Given the description of an element on the screen output the (x, y) to click on. 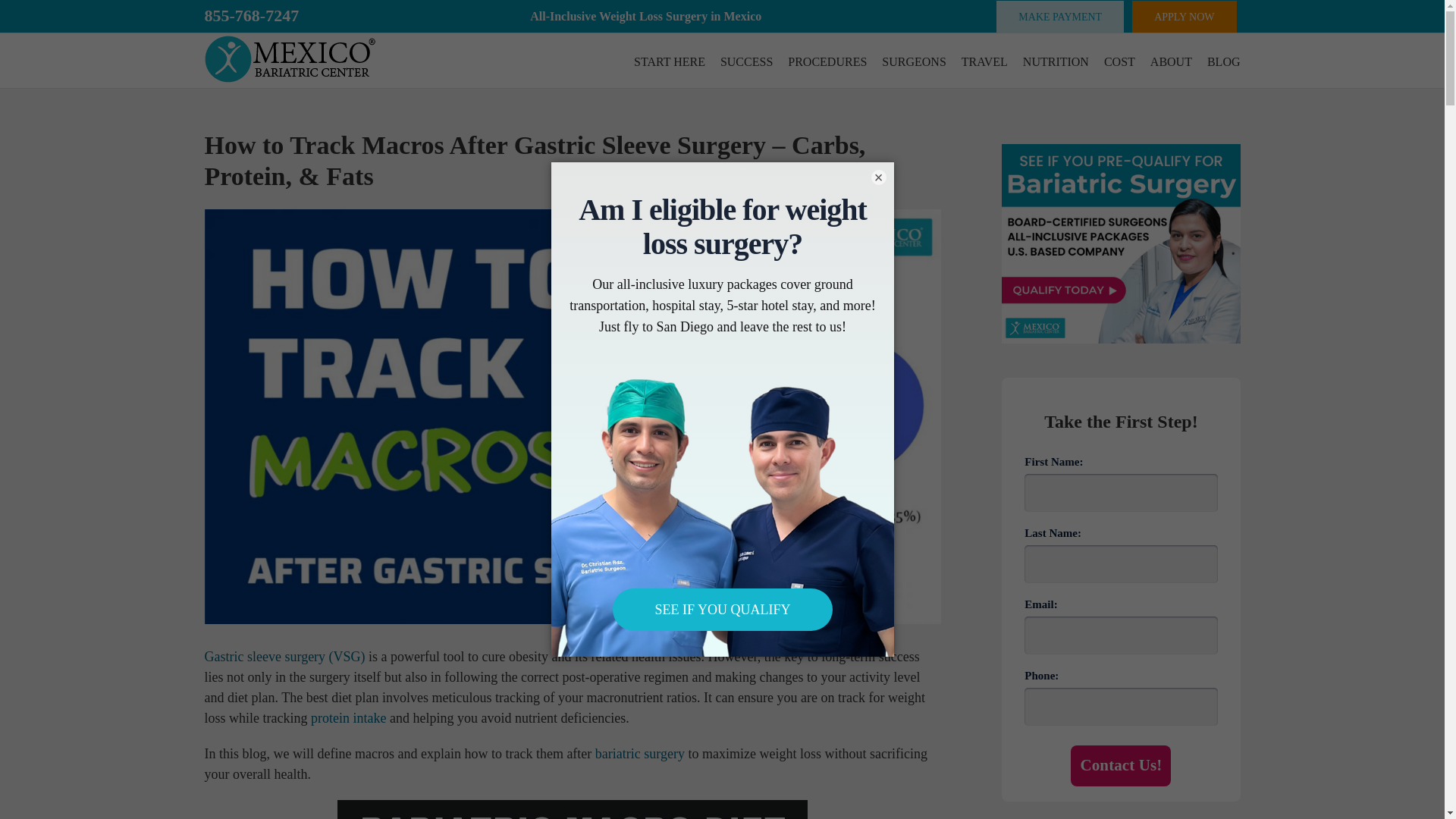
855-768-7247 (252, 15)
Contact Us! (1120, 765)
START HERE (668, 60)
SUCCESS (746, 60)
PROCEDURES (826, 60)
APPLY NOW (1184, 16)
MAKE PAYMENT (1059, 16)
